Given the description of an element on the screen output the (x, y) to click on. 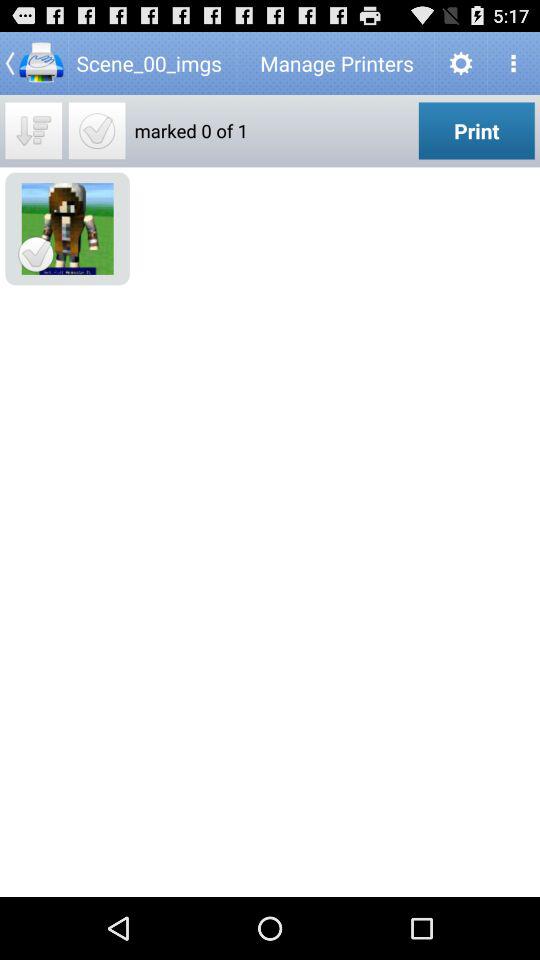
launch the print (476, 130)
